Given the description of an element on the screen output the (x, y) to click on. 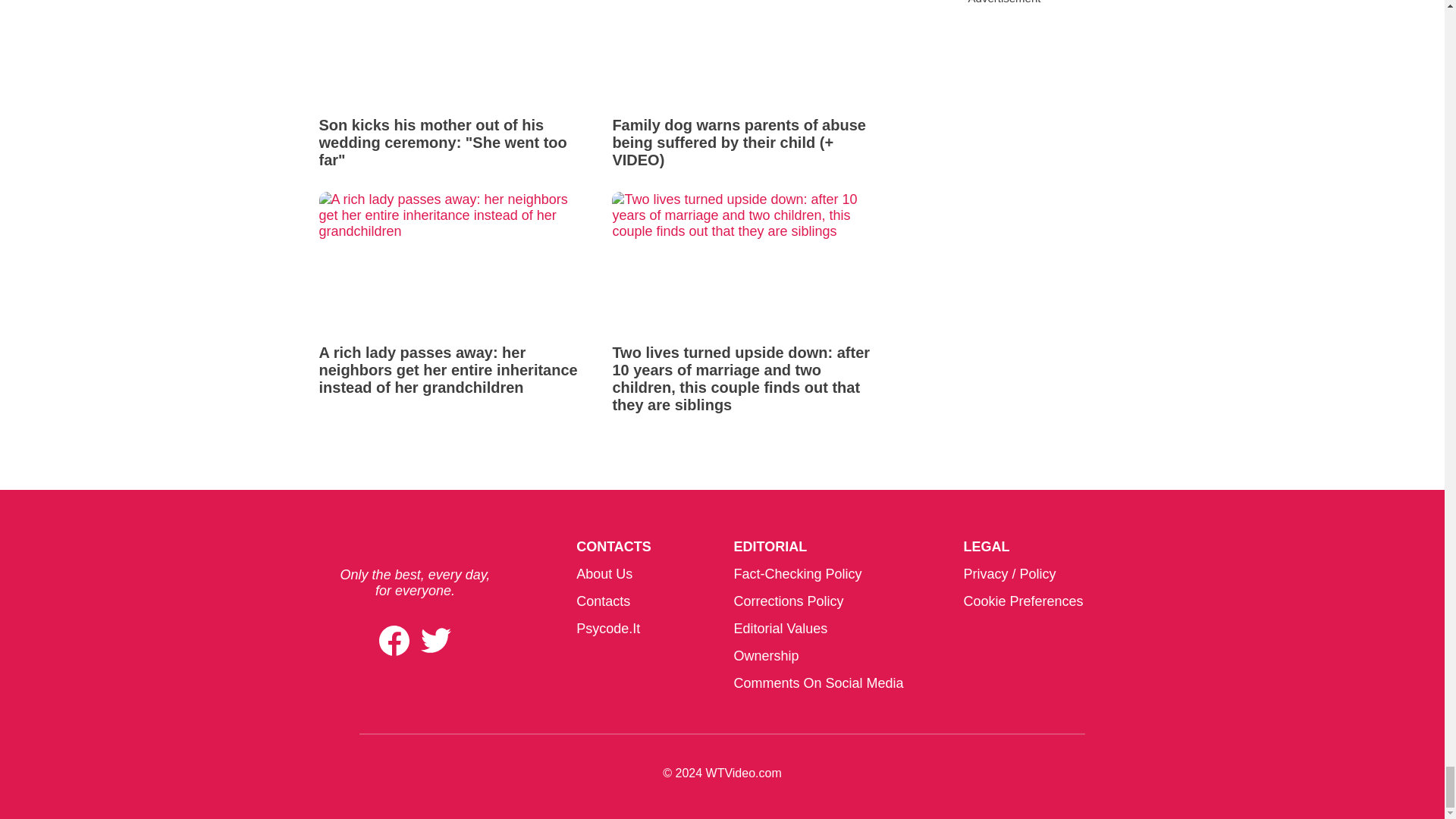
Find us on Facebook (393, 640)
Find us on Twitter (435, 640)
